Given the description of an element on the screen output the (x, y) to click on. 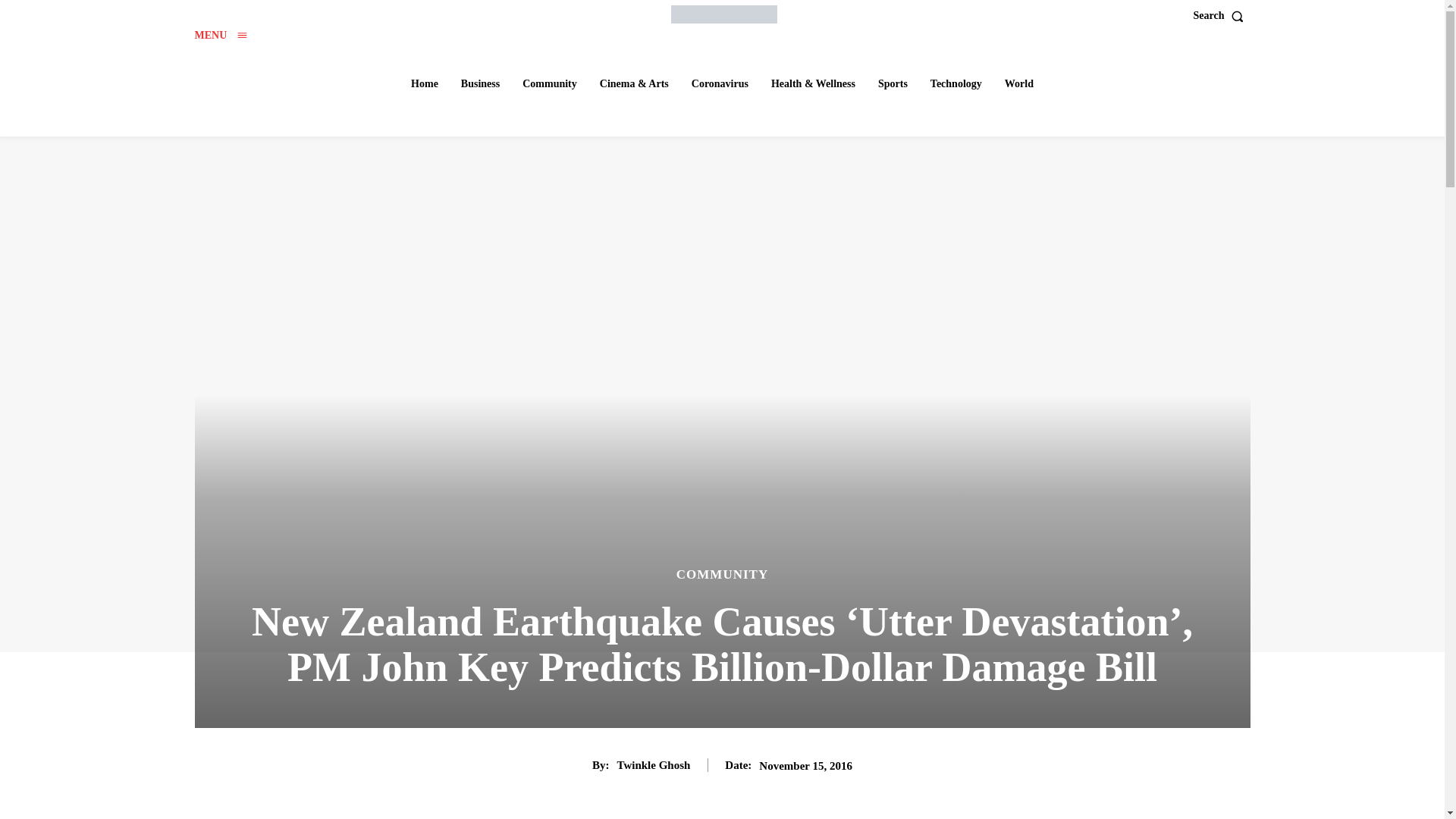
Coronavirus (719, 83)
World (1019, 83)
The Indian Telegraph (724, 13)
MENU (220, 34)
Community (550, 83)
Home (424, 83)
Business (479, 83)
Search (1221, 15)
Technology (956, 83)
Sports (892, 83)
